Given the description of an element on the screen output the (x, y) to click on. 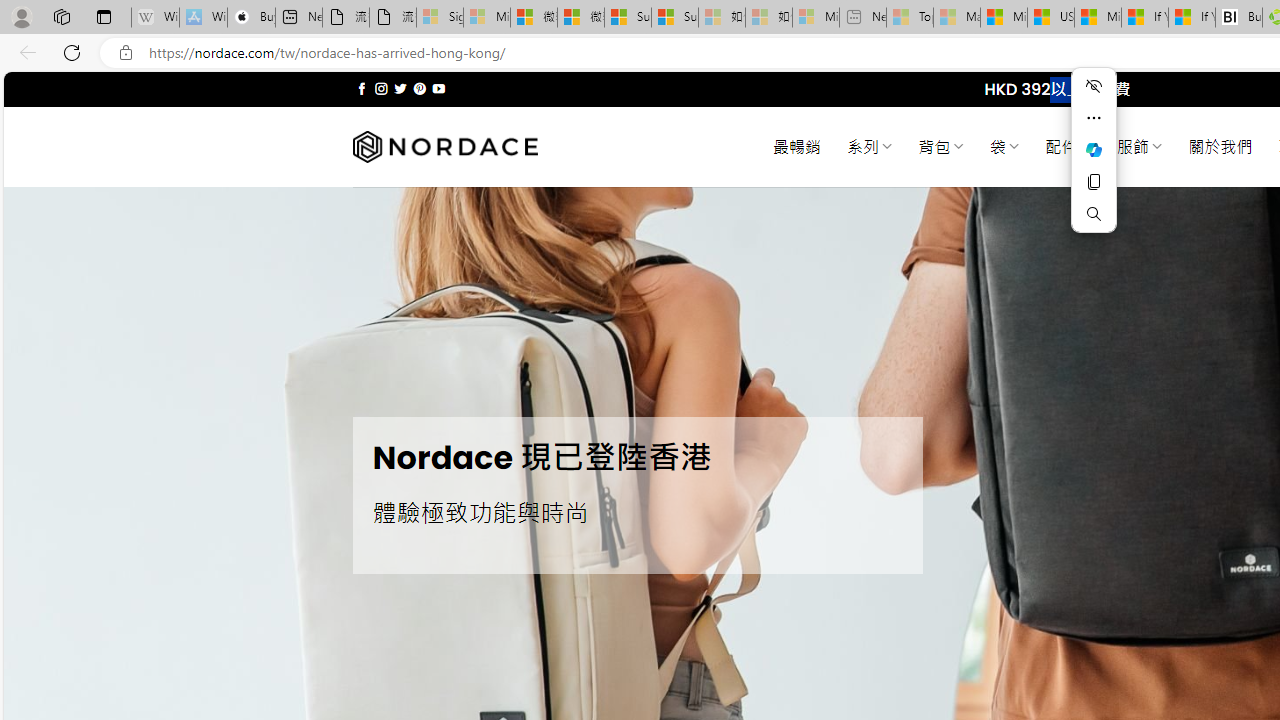
US Heat Deaths Soared To Record High Last Year (1050, 17)
Buy iPad - Apple (251, 17)
Follow on Twitter (400, 88)
Microsoft Services Agreement - Sleeping (486, 17)
Mini menu on text selection (1094, 161)
Copy (1094, 182)
